Given the description of an element on the screen output the (x, y) to click on. 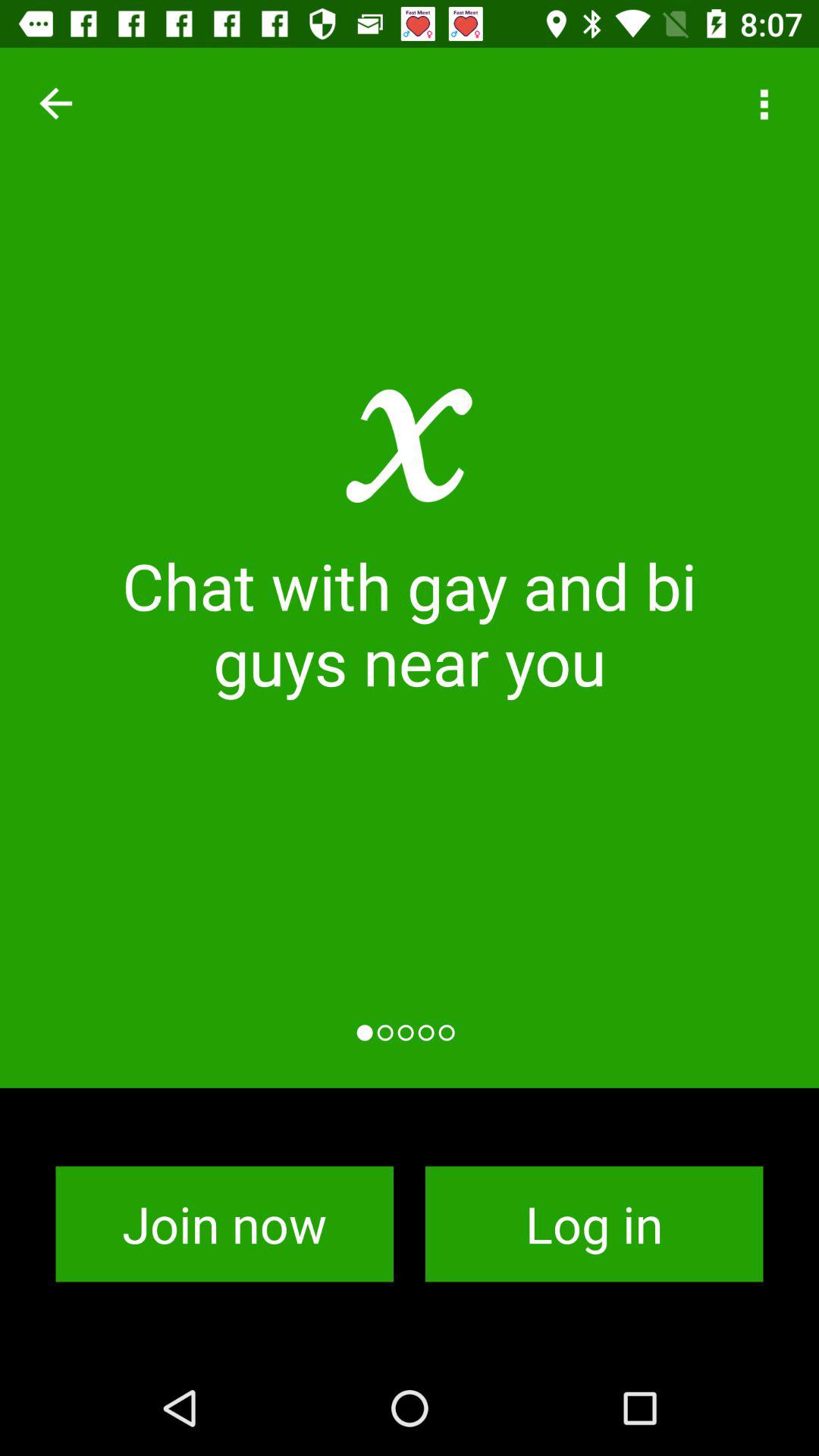
go back (55, 103)
